Given the description of an element on the screen output the (x, y) to click on. 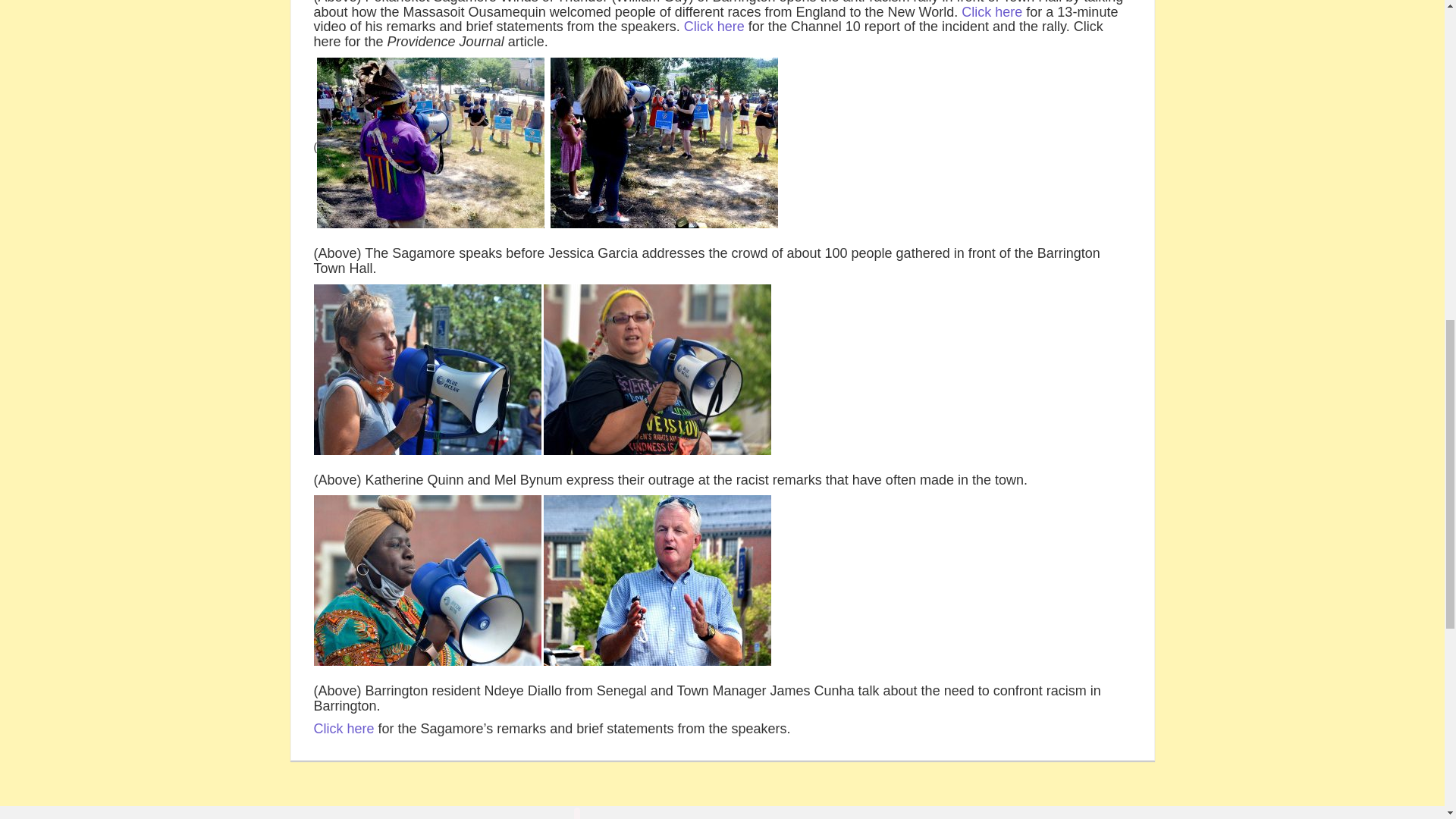
Click here (991, 11)
Click here (344, 728)
Click here (714, 26)
